Given the description of an element on the screen output the (x, y) to click on. 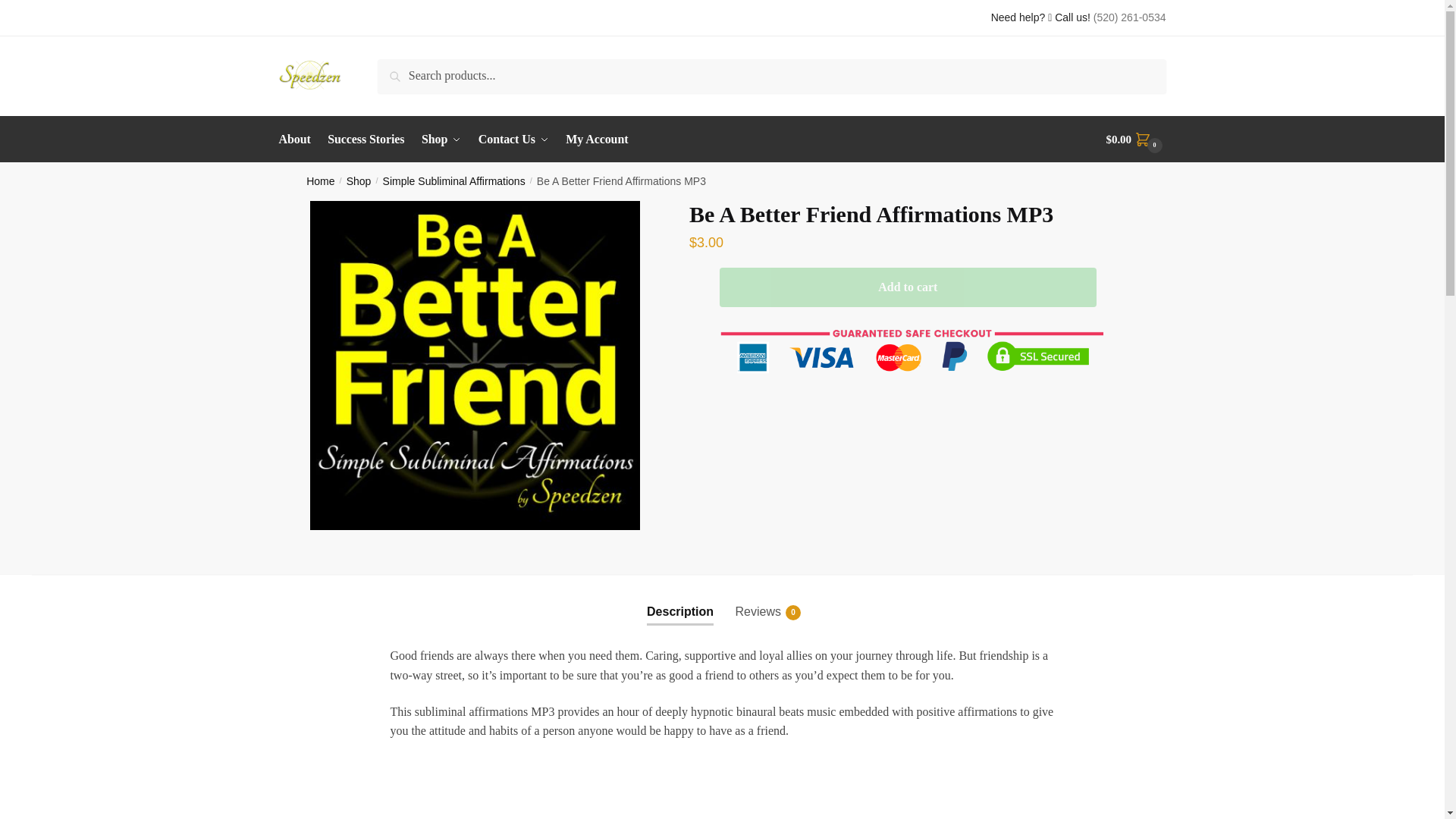
Contact Us (513, 139)
Shop (358, 181)
be a better friend affirmations (475, 365)
My Account (757, 599)
Shop (596, 139)
View your shopping cart (440, 139)
Simple Subliminal Affirmations (1136, 139)
Home (453, 181)
Success Stories (319, 181)
